Given the description of an element on the screen output the (x, y) to click on. 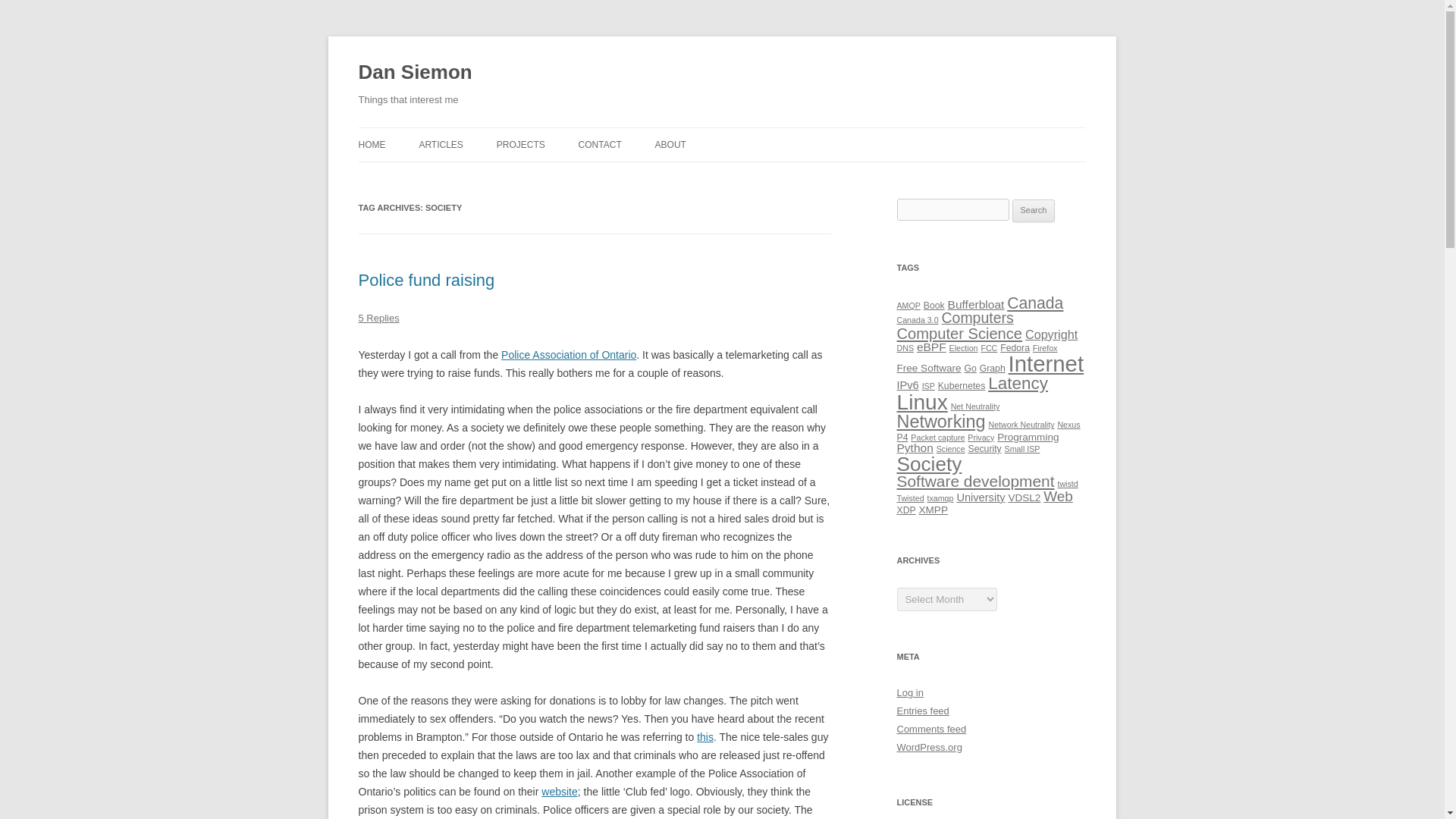
ABOUT (670, 144)
5 Replies (378, 317)
Search (1033, 210)
Police fund raising (426, 280)
website (558, 791)
Dan Siemon (414, 72)
PROJECTS (520, 144)
Police Association of Ontario (568, 354)
this (705, 736)
CONTACT (599, 144)
ARTICLES (441, 144)
